Given the description of an element on the screen output the (x, y) to click on. 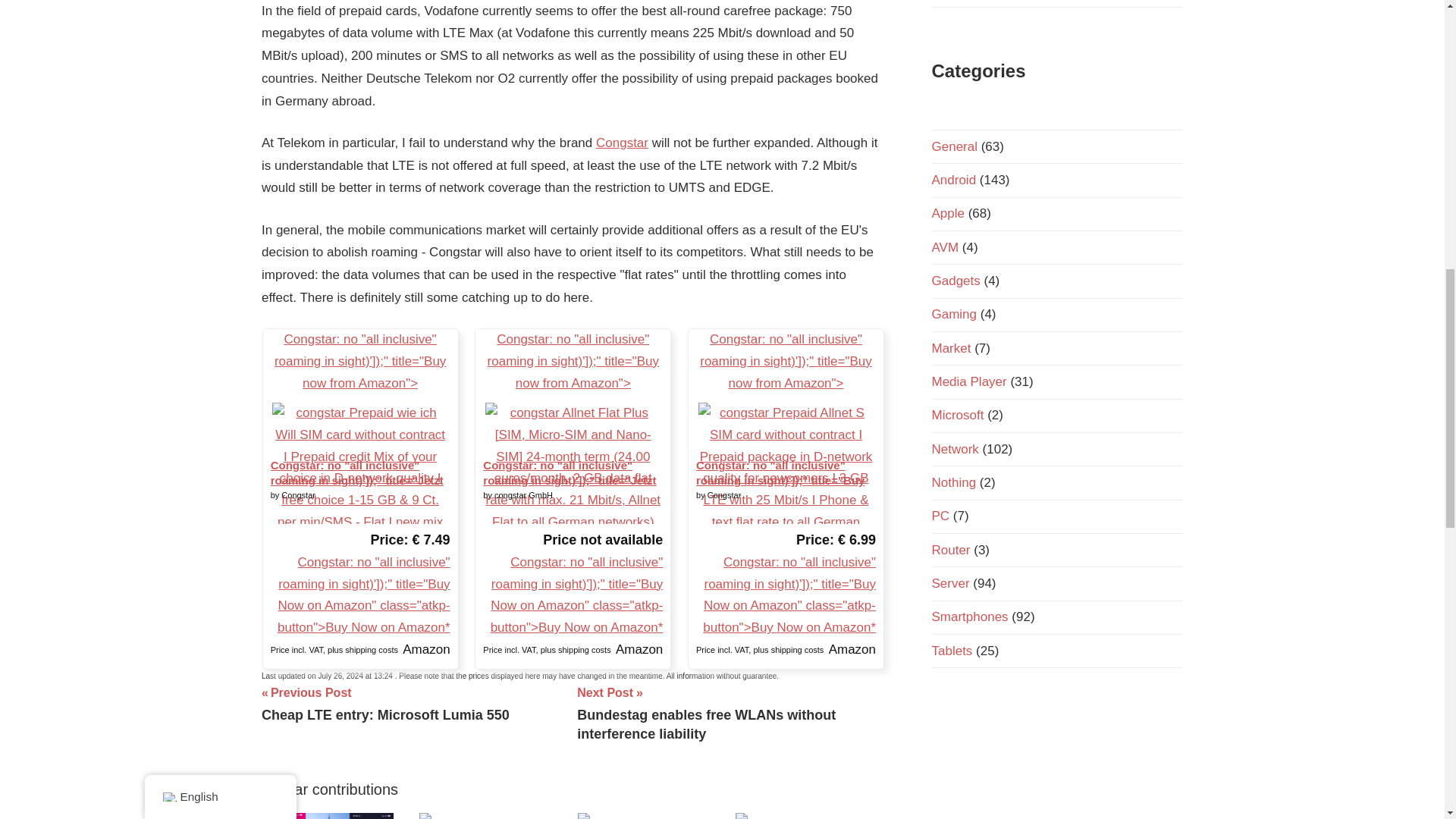
Lenovo Yoga 7i Slim Carbon: Ultrabook in a hands-on test (485, 816)
Congstar: no "all inclusive" roaming in sight (385, 703)
Congstar (785, 463)
Congstar: no "all inclusive" roaming in sight (621, 142)
Congstar: no "all inclusive" roaming in sight (572, 463)
Coinbase Card: VISA Card with Bitcoins (359, 463)
